Given the description of an element on the screen output the (x, y) to click on. 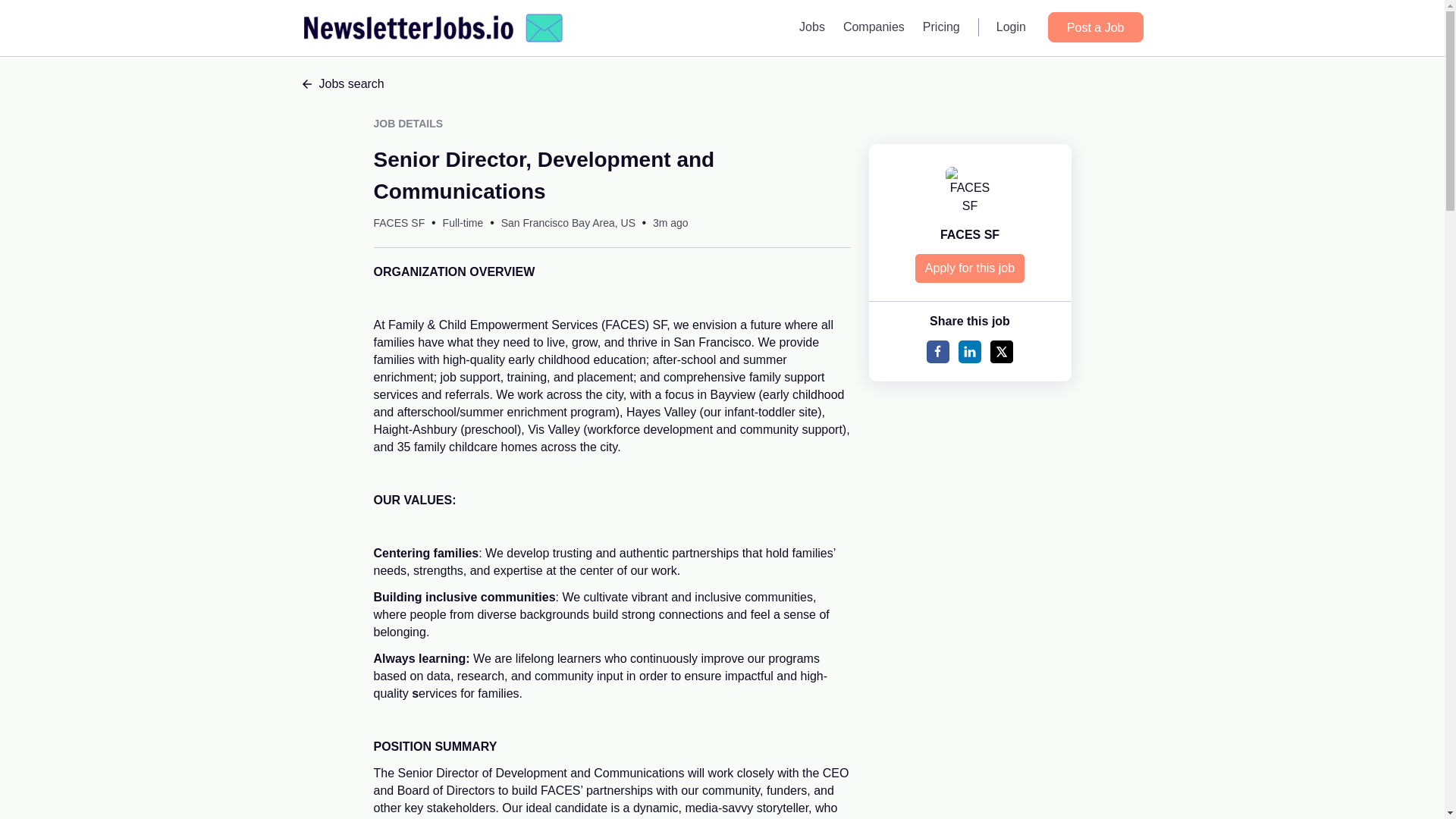
Apply for this job (970, 267)
Share to FB (937, 351)
Share to Linkedin (969, 351)
FACES SF (969, 234)
Jobs (812, 26)
FACES SF (398, 223)
Login (1011, 26)
Full-time (462, 223)
Pricing (941, 26)
Share to Twitter (1001, 351)
Companies (874, 26)
Jobs search (721, 84)
Post a Job (1095, 27)
